Given the description of an element on the screen output the (x, y) to click on. 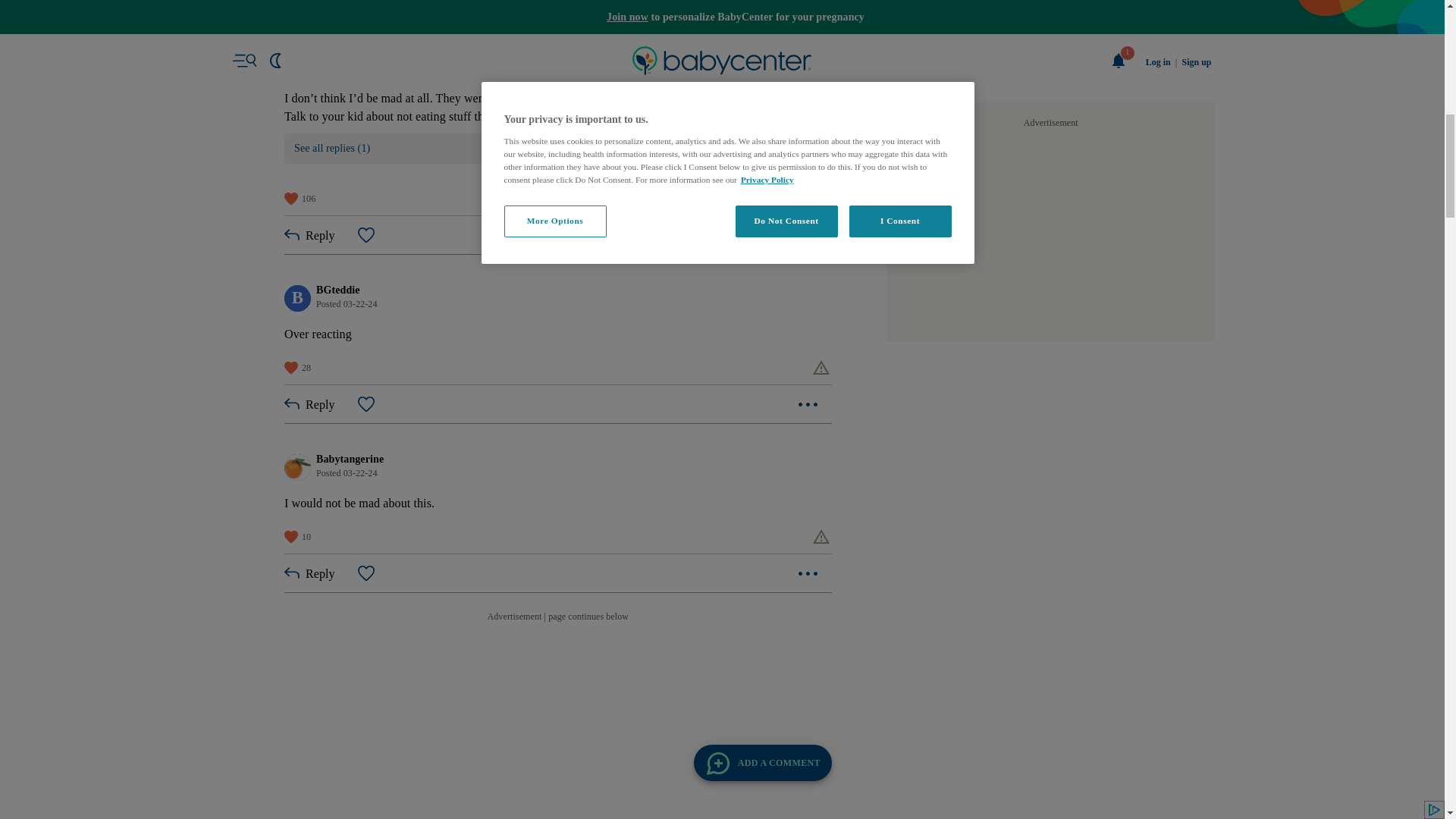
1 (538, 16)
Go to page number (538, 16)
